Given the description of an element on the screen output the (x, y) to click on. 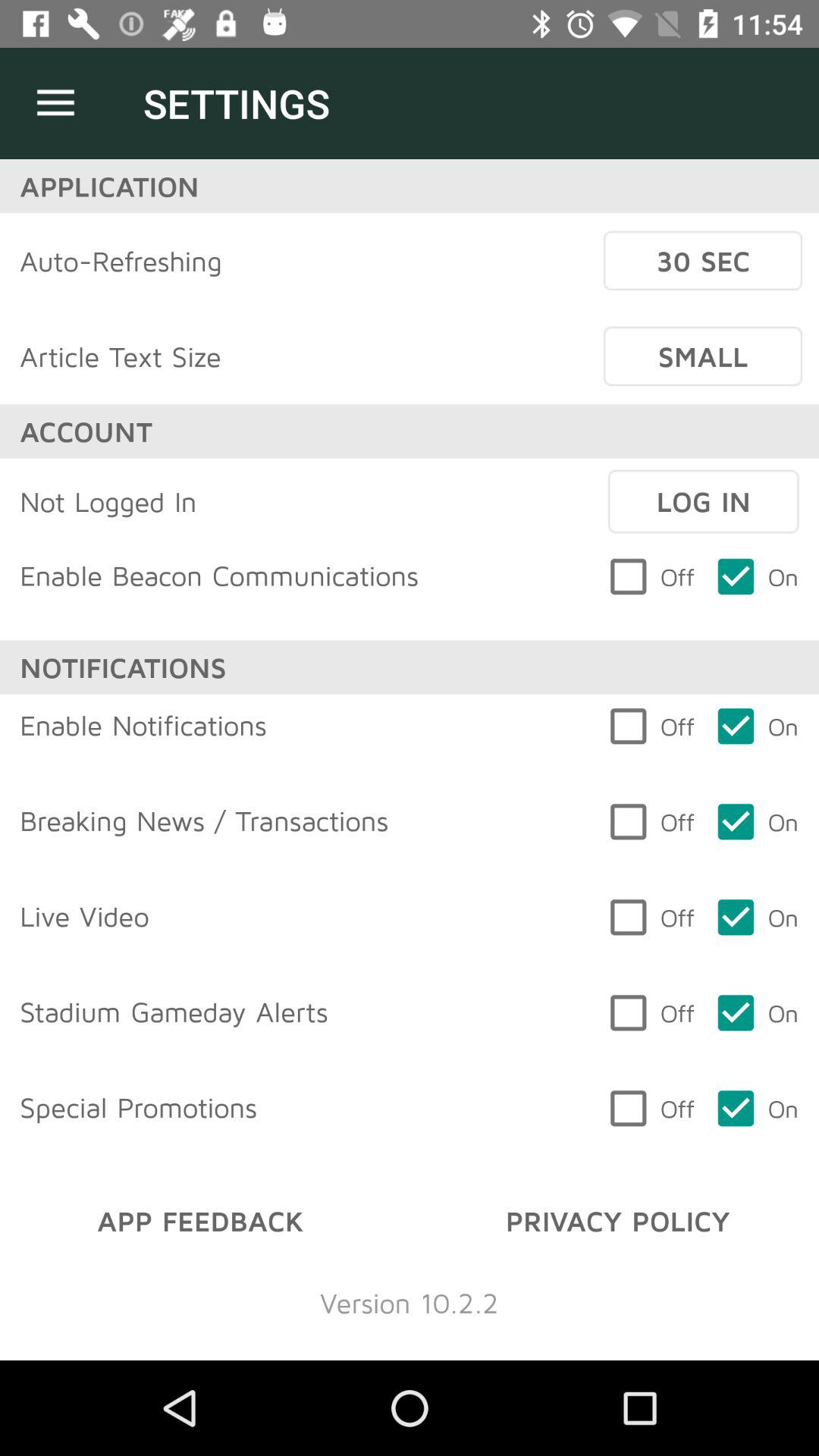
launch version 10 2 item (409, 1302)
